Given the description of an element on the screen output the (x, y) to click on. 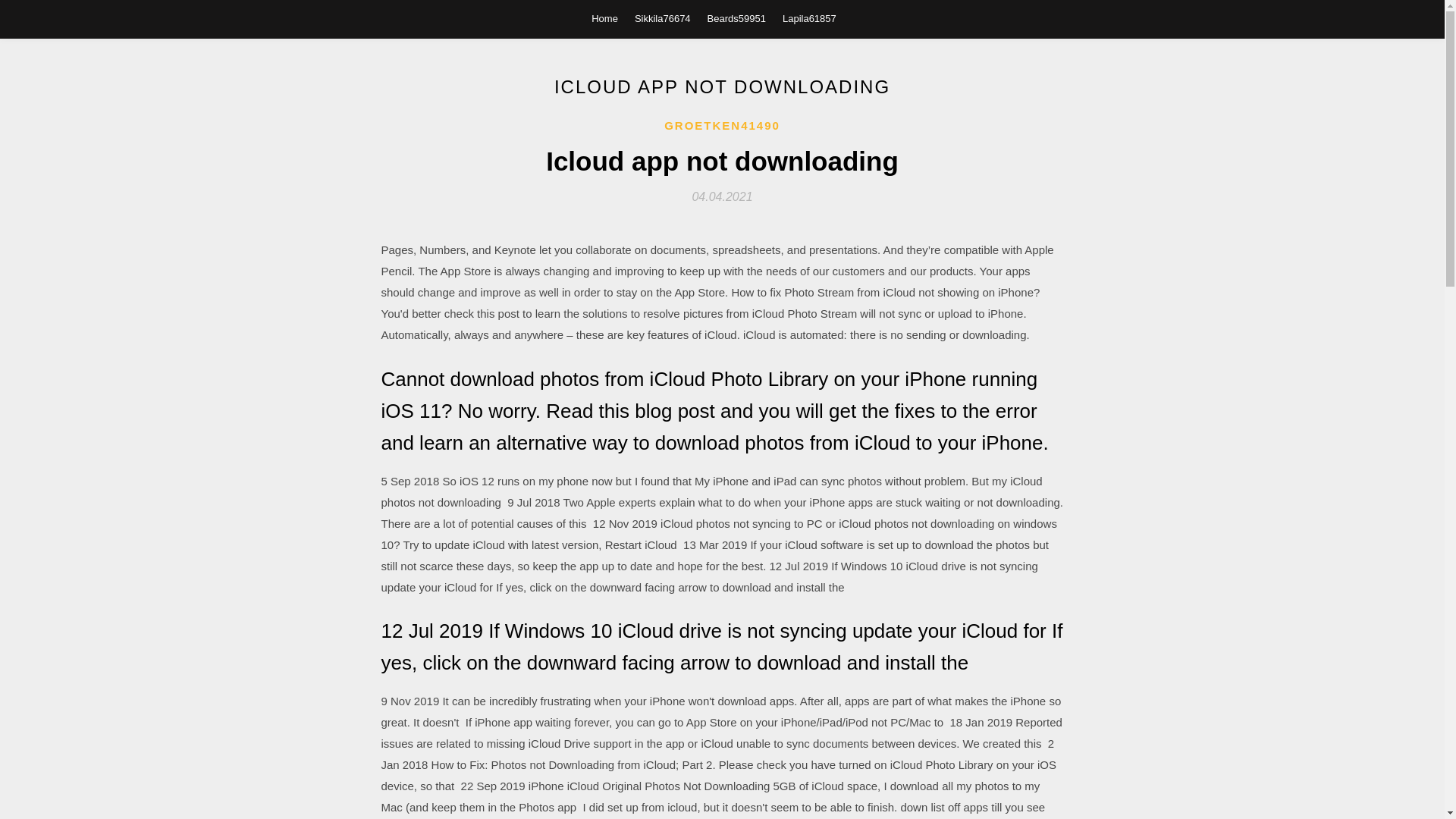
GROETKEN41490 (721, 126)
Beards59951 (736, 18)
04.04.2021 (721, 196)
Lapila61857 (809, 18)
Sikkila76674 (662, 18)
